Given the description of an element on the screen output the (x, y) to click on. 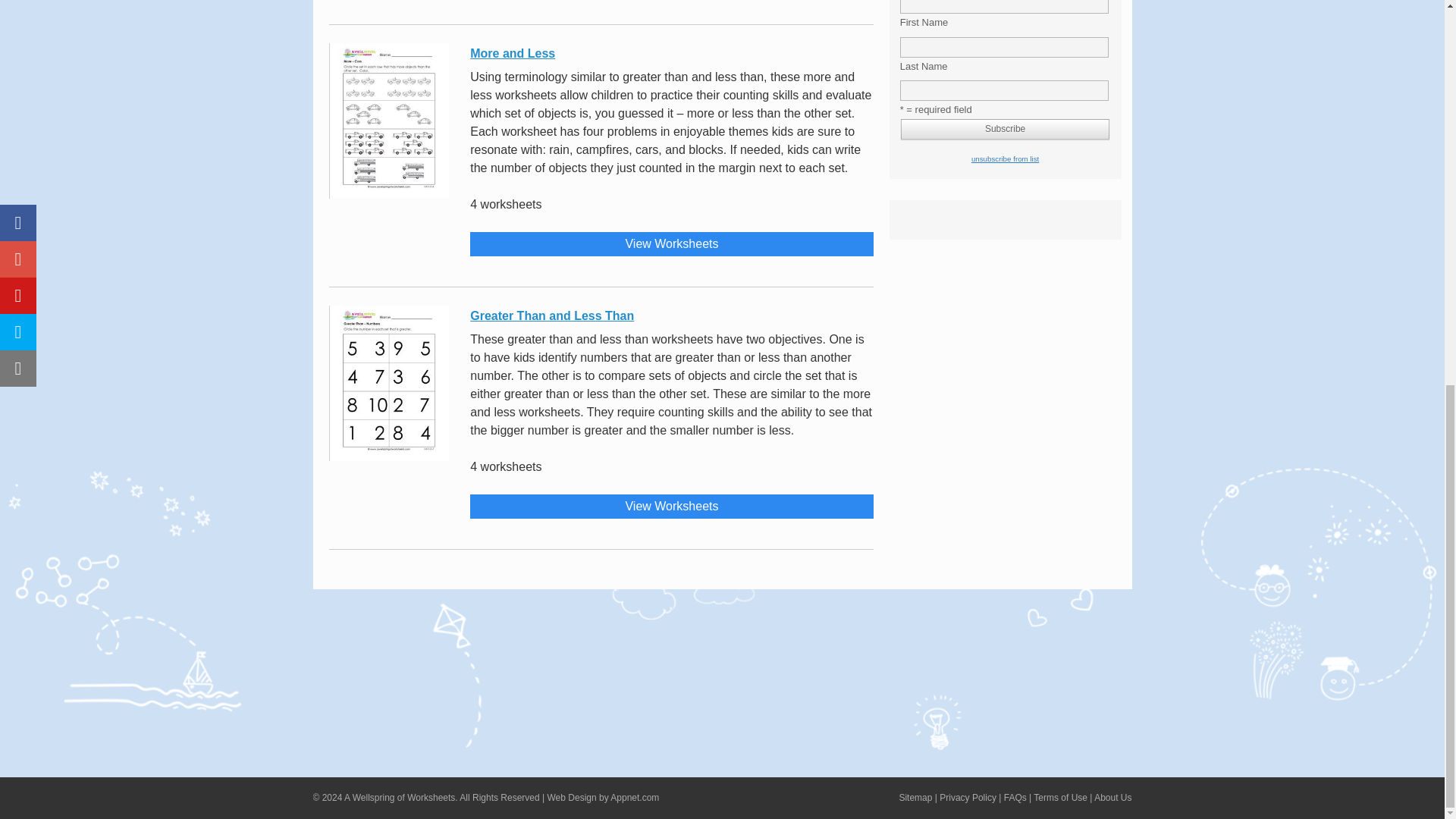
Greater Than and Less Than (671, 313)
unsubscribe from list (1005, 158)
Subscribe (1005, 128)
View Worksheets (671, 243)
Sitemap (914, 797)
Terms of Use (1060, 797)
Subscribe (1005, 128)
FAQs (1015, 797)
About Us (1112, 797)
Privacy Policy (967, 797)
More and Less (671, 51)
View Worksheets (671, 506)
